Given the description of an element on the screen output the (x, y) to click on. 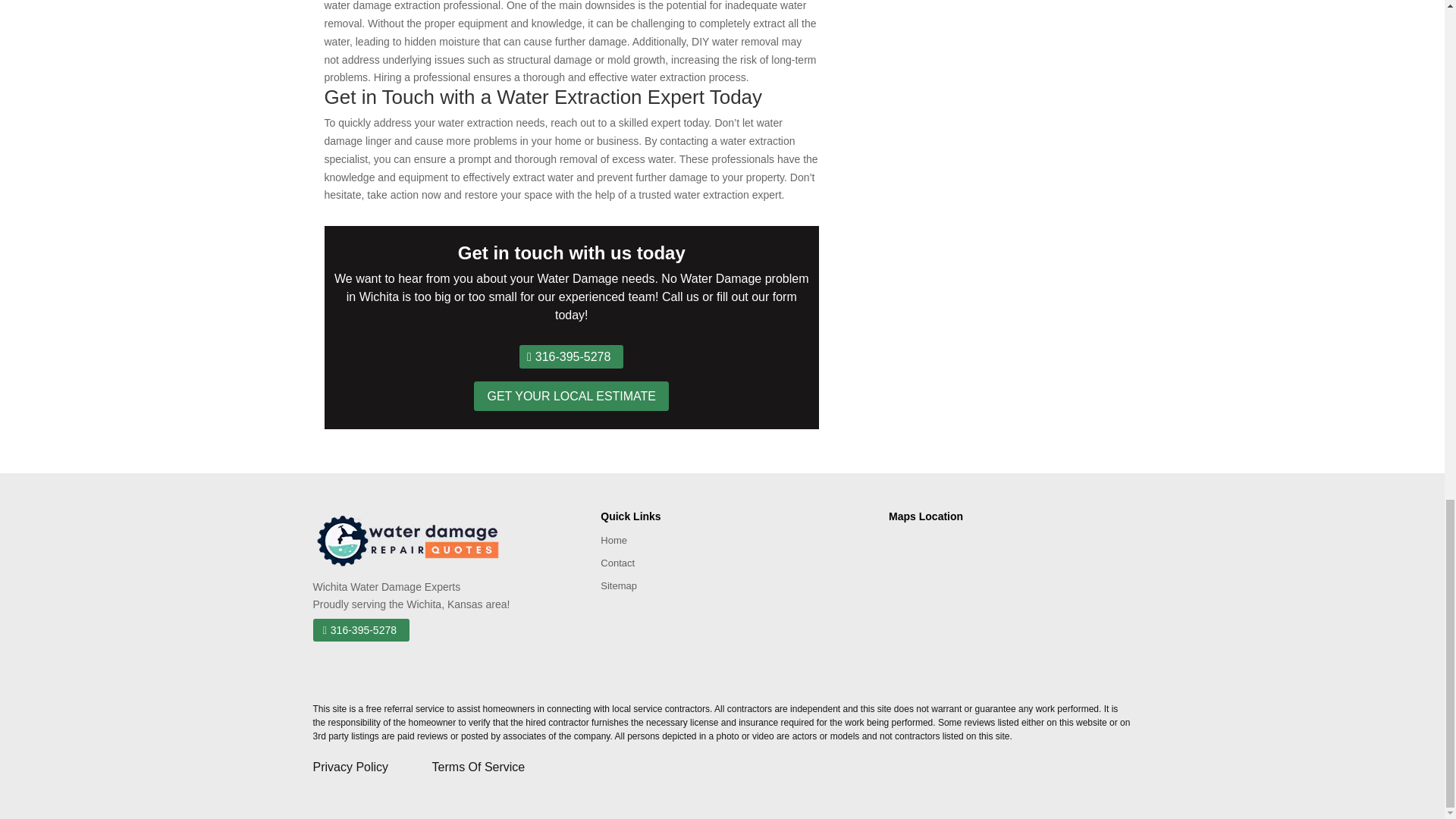
Home (613, 543)
theme-builder-O5Ip7jbfxNyd1P2W (407, 540)
Contact (616, 565)
316-395-5278 (571, 356)
316-395-5278 (361, 630)
GET YOUR LOCAL ESTIMATE (571, 396)
Terms Of Service (478, 766)
Sitemap (618, 588)
Privacy Policy              (371, 766)
